Given the description of an element on the screen output the (x, y) to click on. 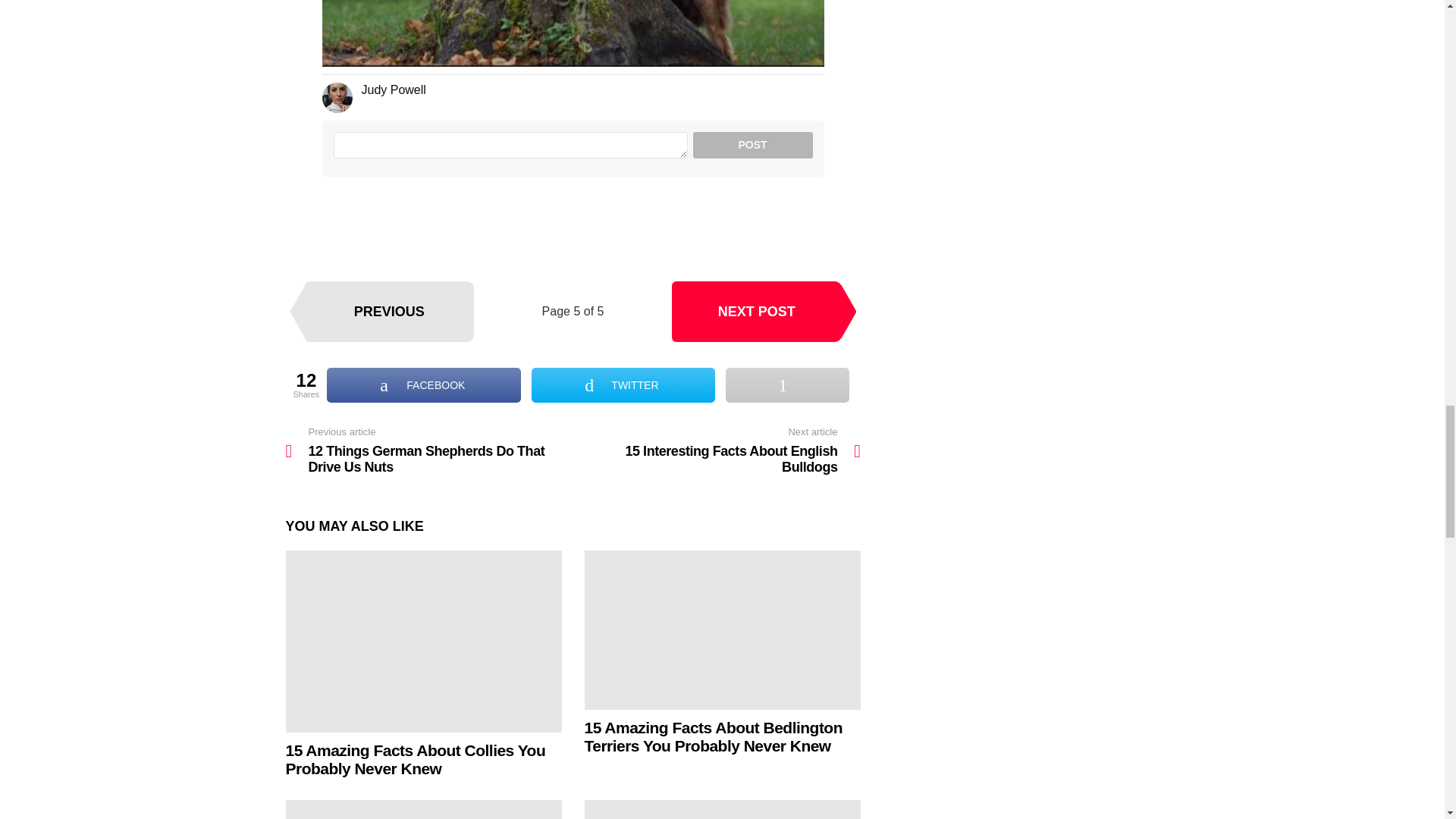
Post (752, 144)
